Given the description of an element on the screen output the (x, y) to click on. 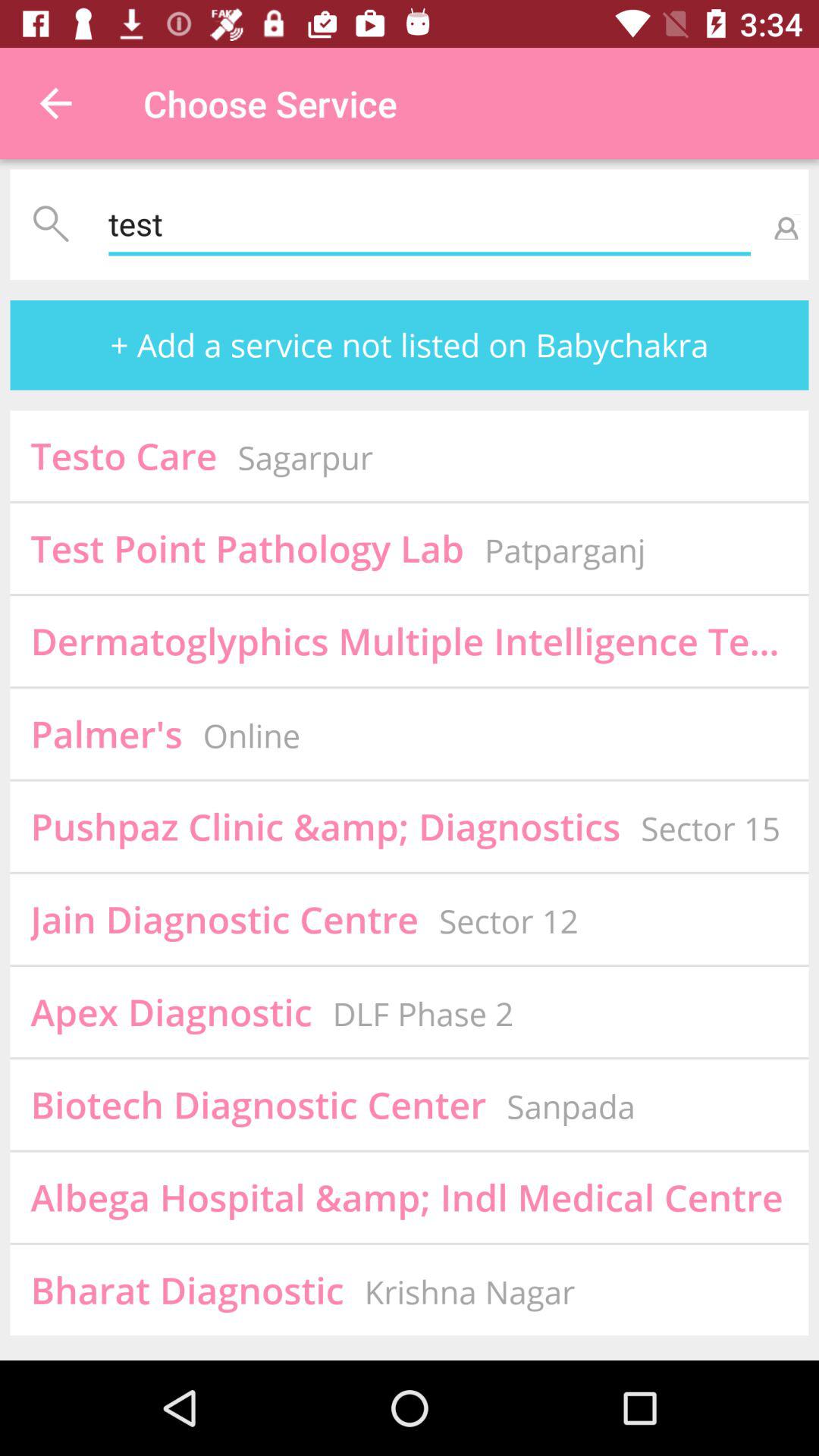
turn off the icon to the right of apex diagnostic (422, 1013)
